Given the description of an element on the screen output the (x, y) to click on. 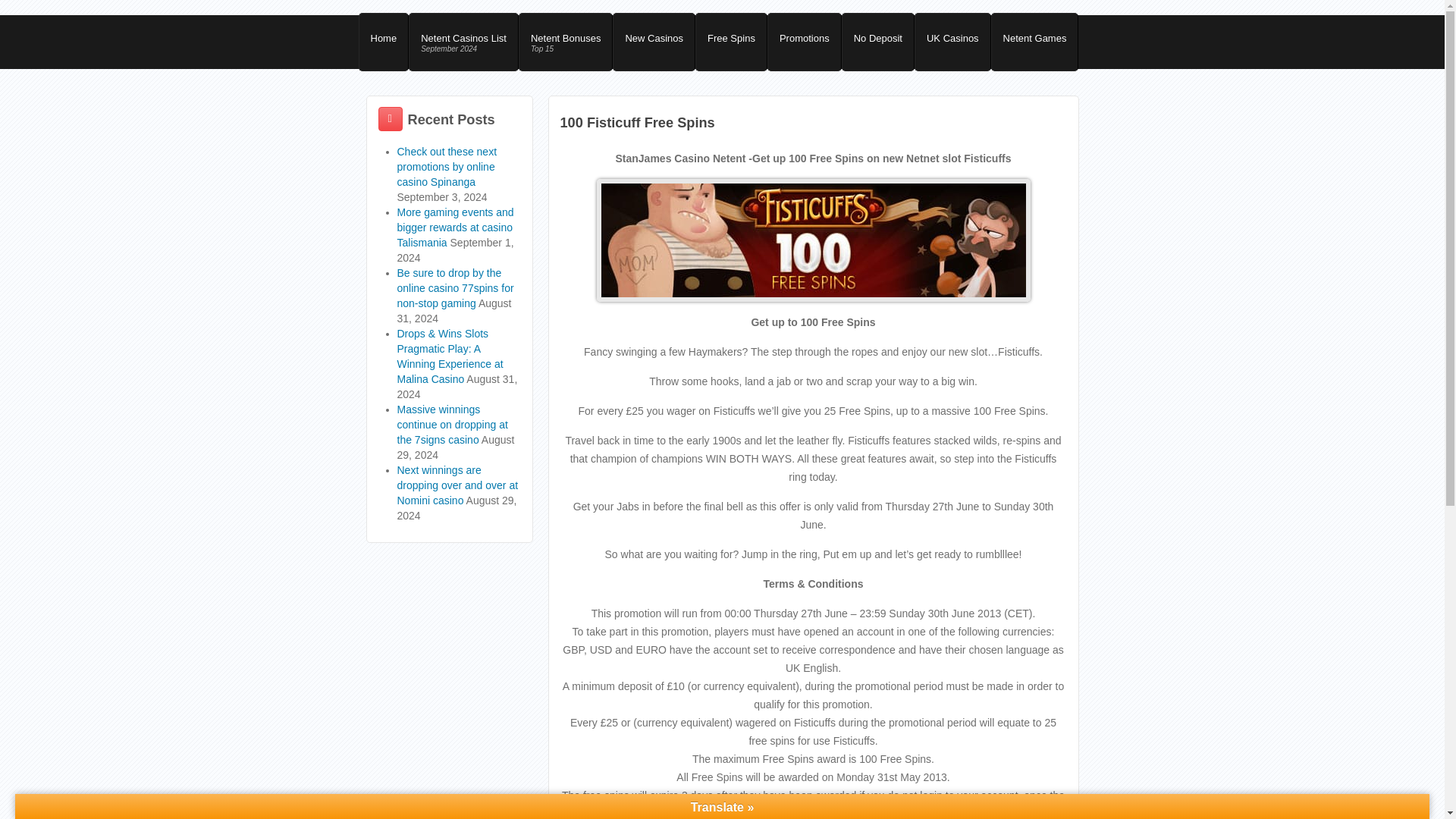
Check out these next promotions by online casino Spinanga (447, 166)
No Deposit (565, 42)
More gaming events and bigger rewards at casino Talismania (877, 42)
Netent Games (455, 227)
UK Casinos (1034, 42)
Next winnings are dropping over and over at Nomini casino (952, 42)
Promotions (457, 485)
